Given the description of an element on the screen output the (x, y) to click on. 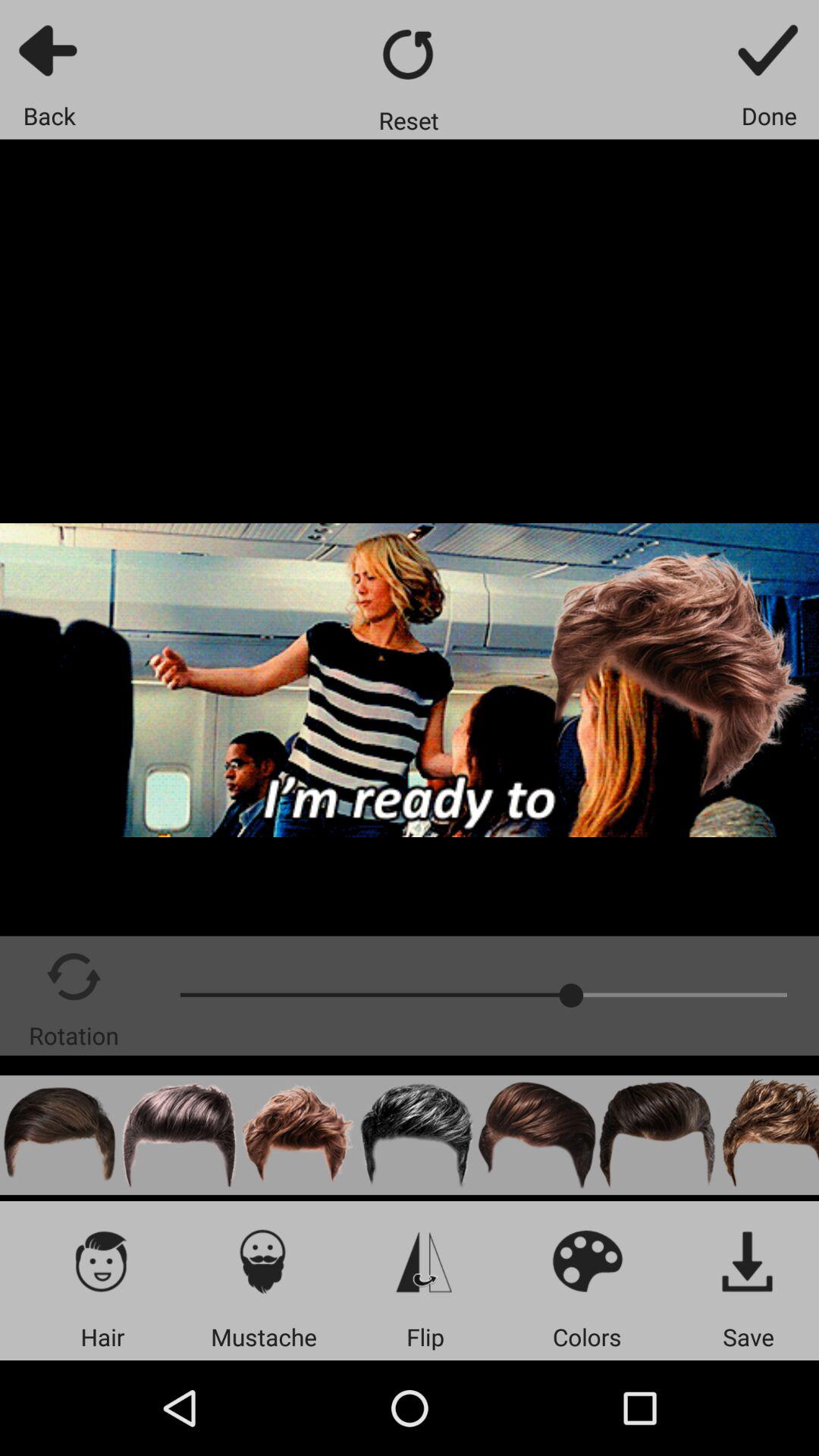
add a hairstyle overlay (656, 1134)
